Given the description of an element on the screen output the (x, y) to click on. 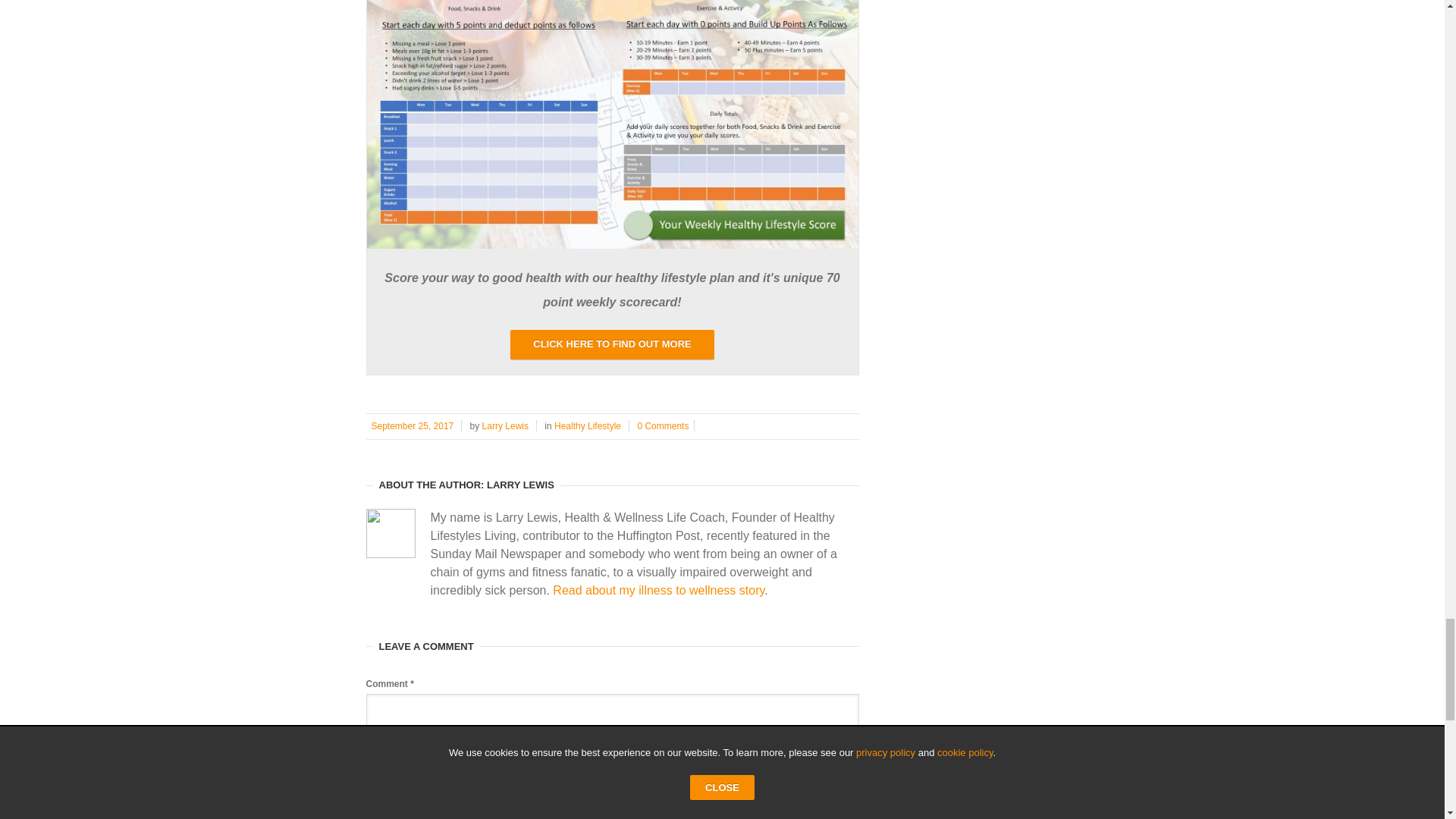
Healthy Lifestyle Plan (612, 244)
My illness to wellness story (658, 590)
Healthy Lifestyle Plan (612, 344)
